Given the description of an element on the screen output the (x, y) to click on. 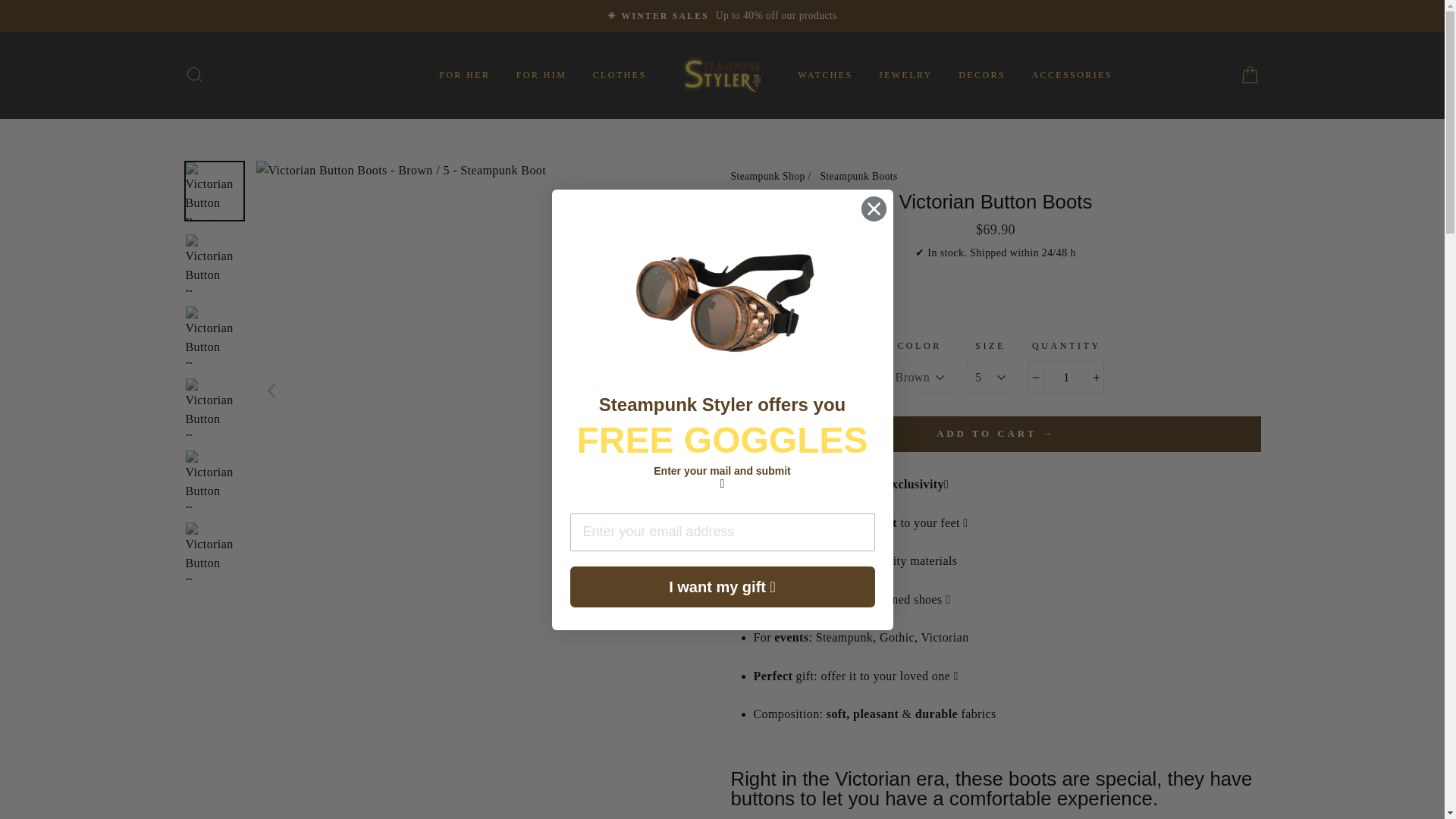
1 (1065, 377)
Back to the frontpage (769, 175)
